Given the description of an element on the screen output the (x, y) to click on. 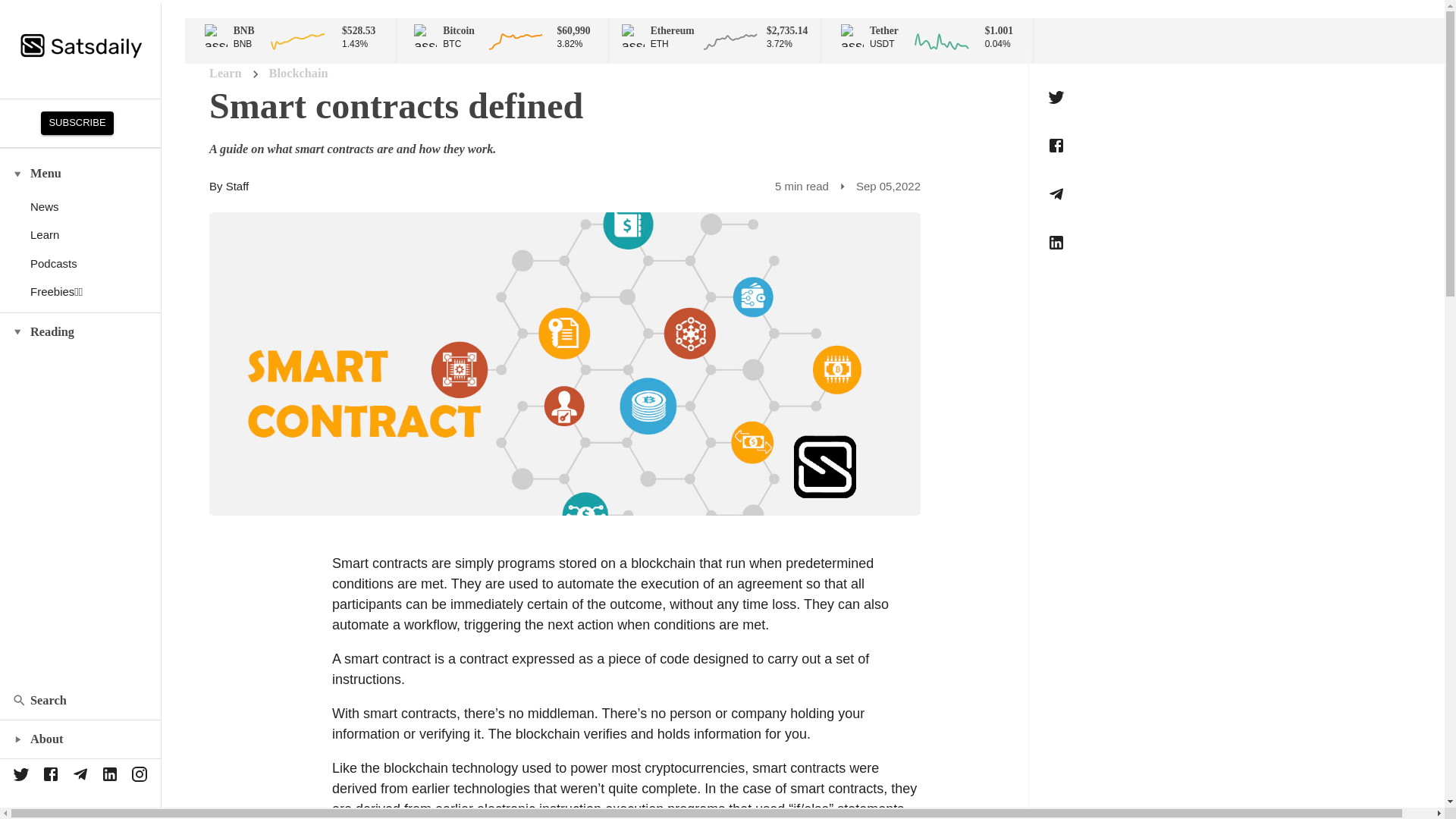
SUBSCRIBE (76, 123)
Blockchain (299, 74)
Learn (225, 74)
